Given the description of an element on the screen output the (x, y) to click on. 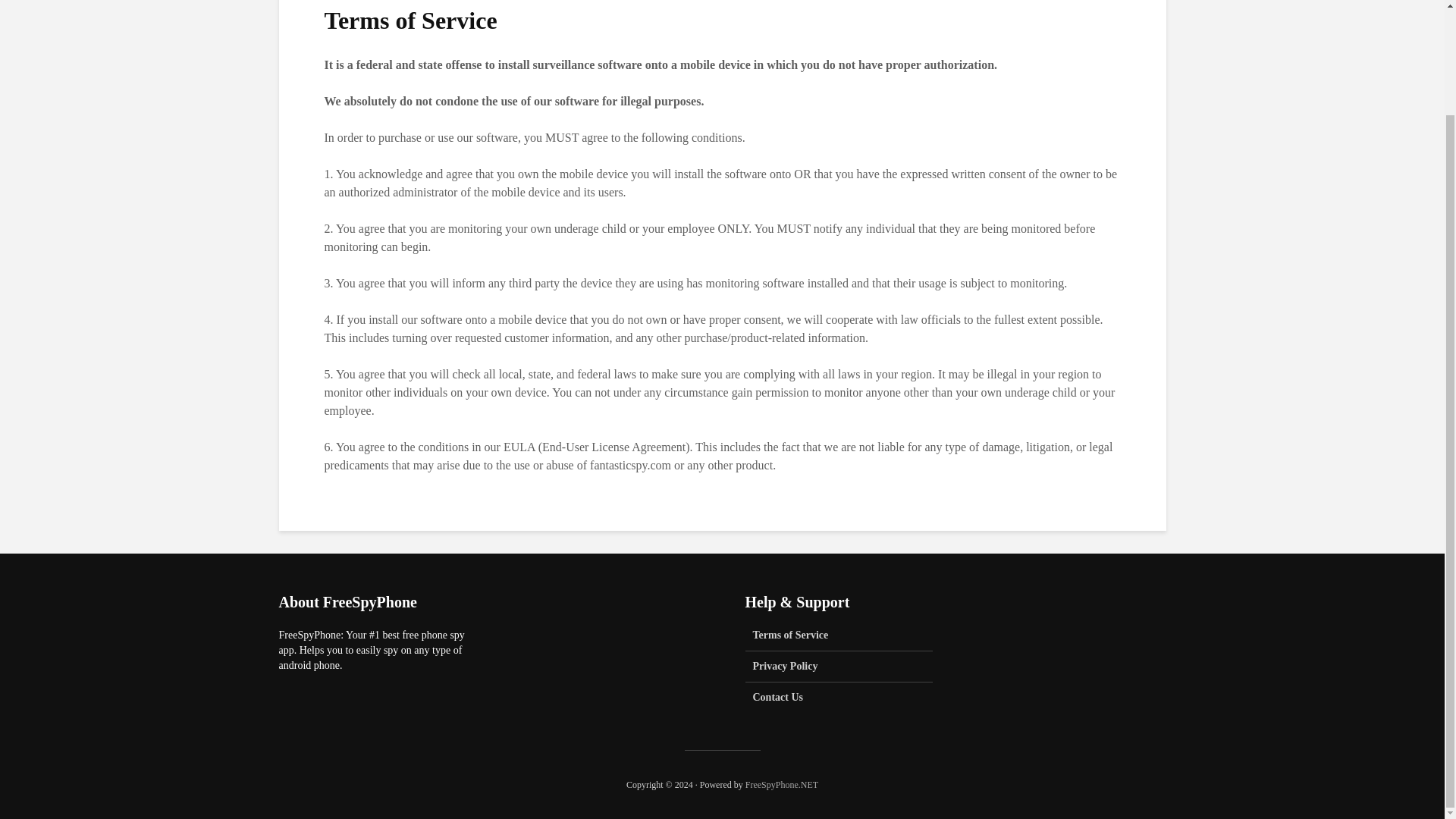
FreeSpyPhone.NET (781, 784)
Terms of Service (838, 639)
Privacy Policy (838, 666)
Contact Us (838, 697)
